Given the description of an element on the screen output the (x, y) to click on. 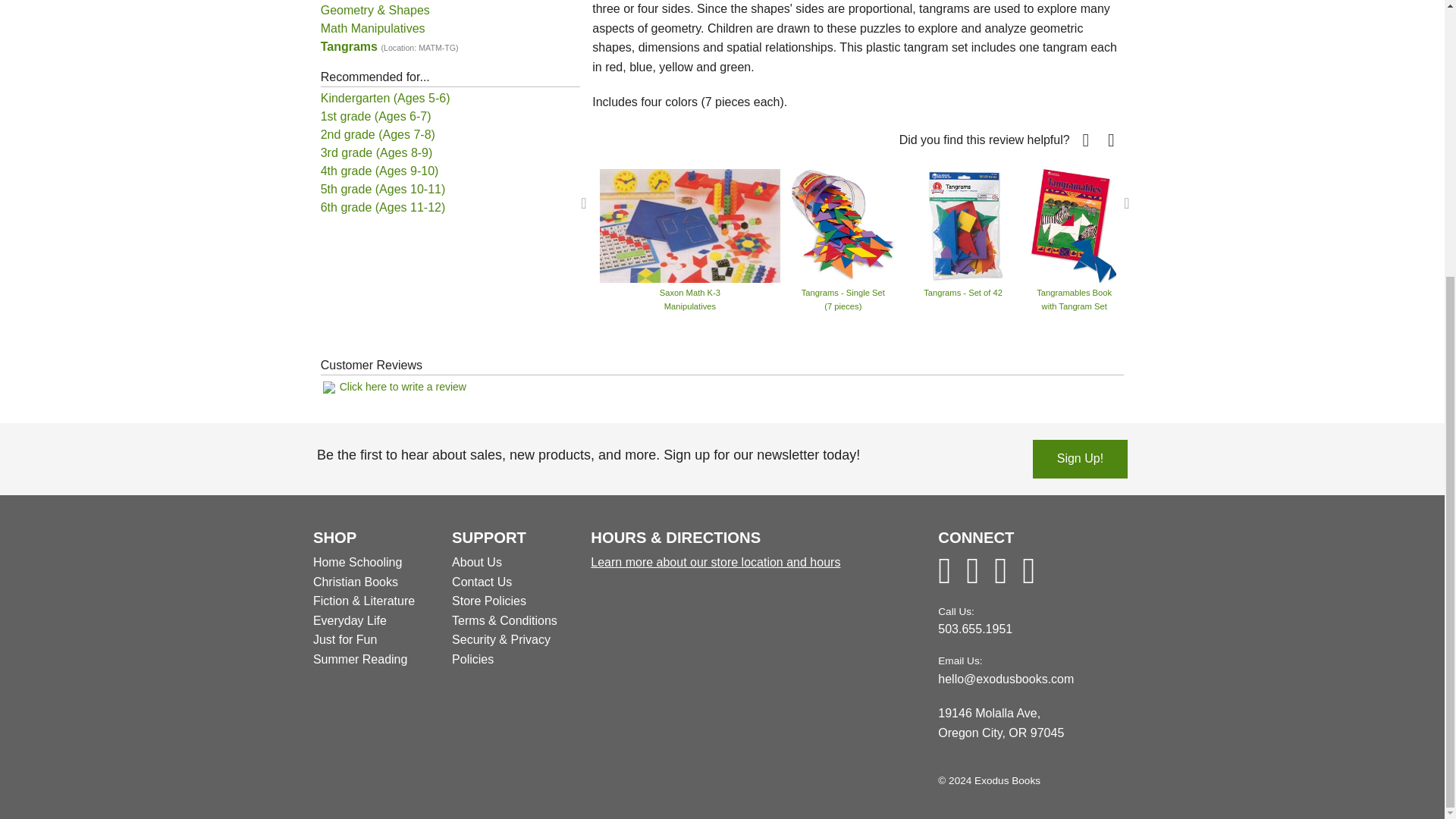
Saxon Math K-3 Manipulatives (688, 224)
Tangrams - Set of 42 (962, 224)
Saxon Math K Manipulative Set (1273, 205)
Tangramables Book with Tangram Set (1074, 224)
4" Geared Clock (1383, 224)
Saxon Math 2 Manipulative Set (1173, 205)
